Given the description of an element on the screen output the (x, y) to click on. 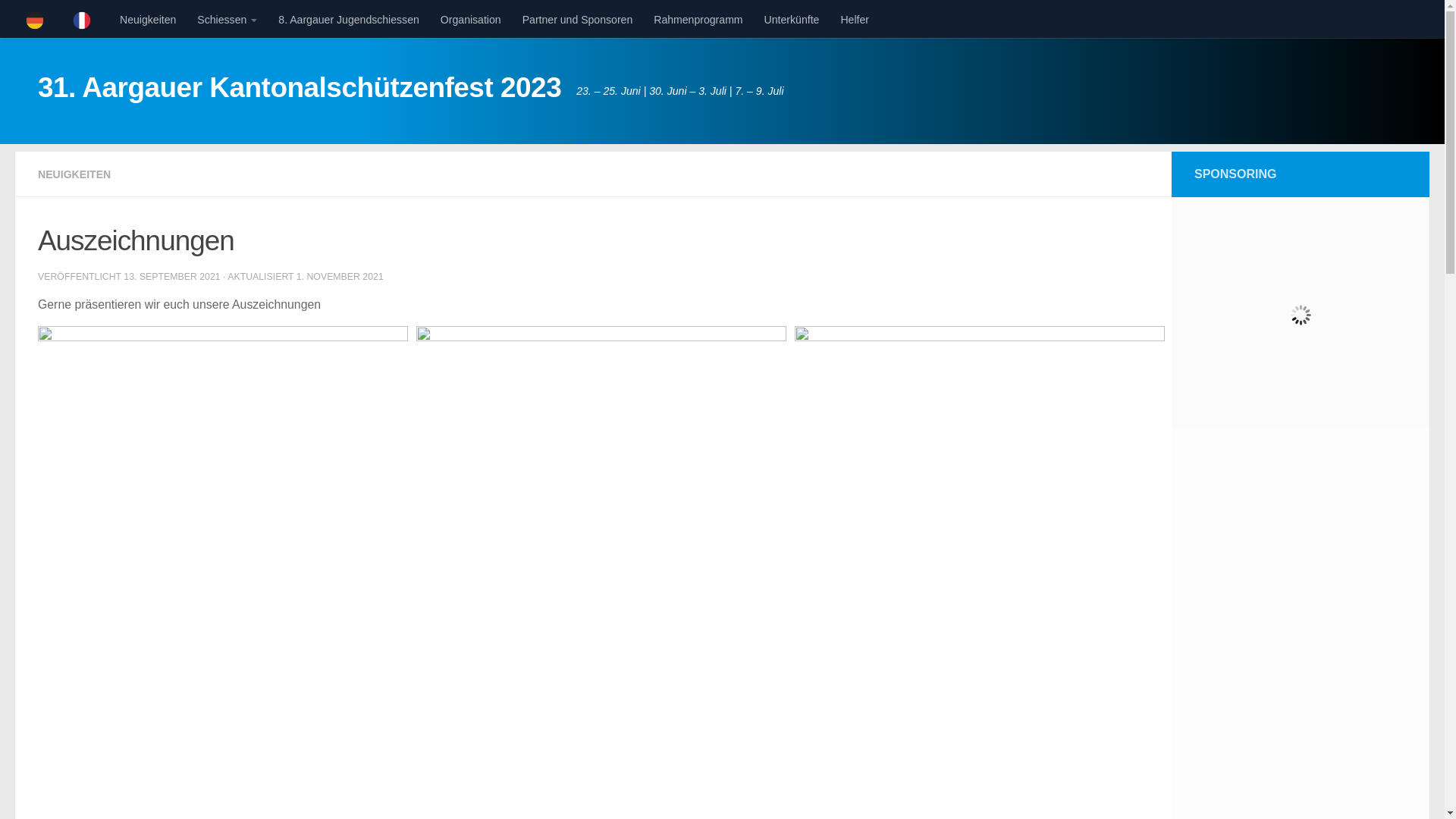
Zum Inhalt springen Element type: text (71, 20)
Neuigkeiten Element type: text (147, 19)
8. Aargauer Jugendschiessen Element type: text (348, 19)
Rahmenprogramm Element type: text (698, 19)
NEUIGKEITEN Element type: text (73, 174)
Organisation Element type: text (470, 19)
Schiessen Element type: text (226, 19)
Deutsch Element type: hover (38, 20)
Helfer Element type: text (854, 19)
Partner und Sponsoren Element type: text (577, 19)
